Given the description of an element on the screen output the (x, y) to click on. 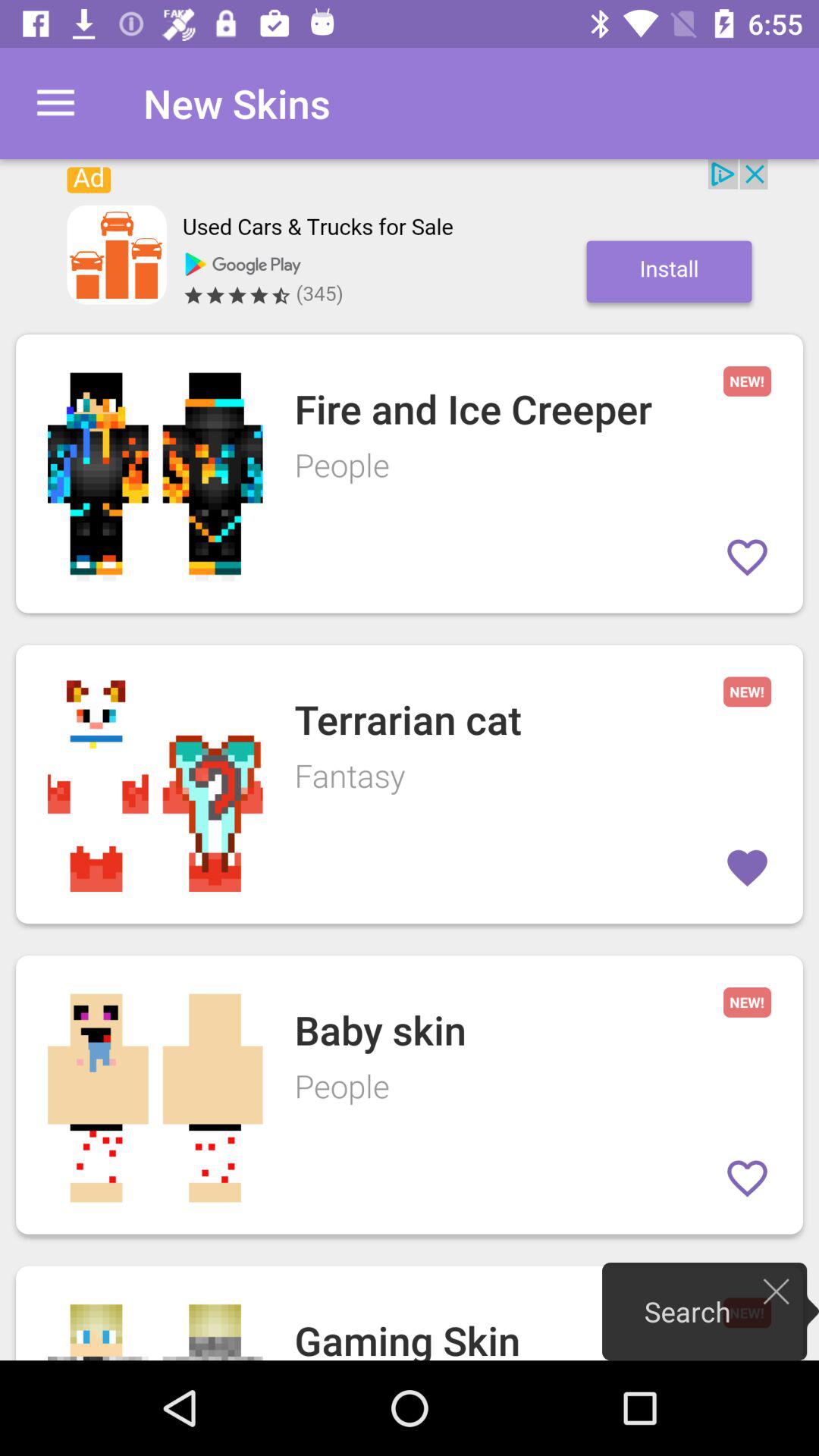
add to favourites (747, 1178)
